Given the description of an element on the screen output the (x, y) to click on. 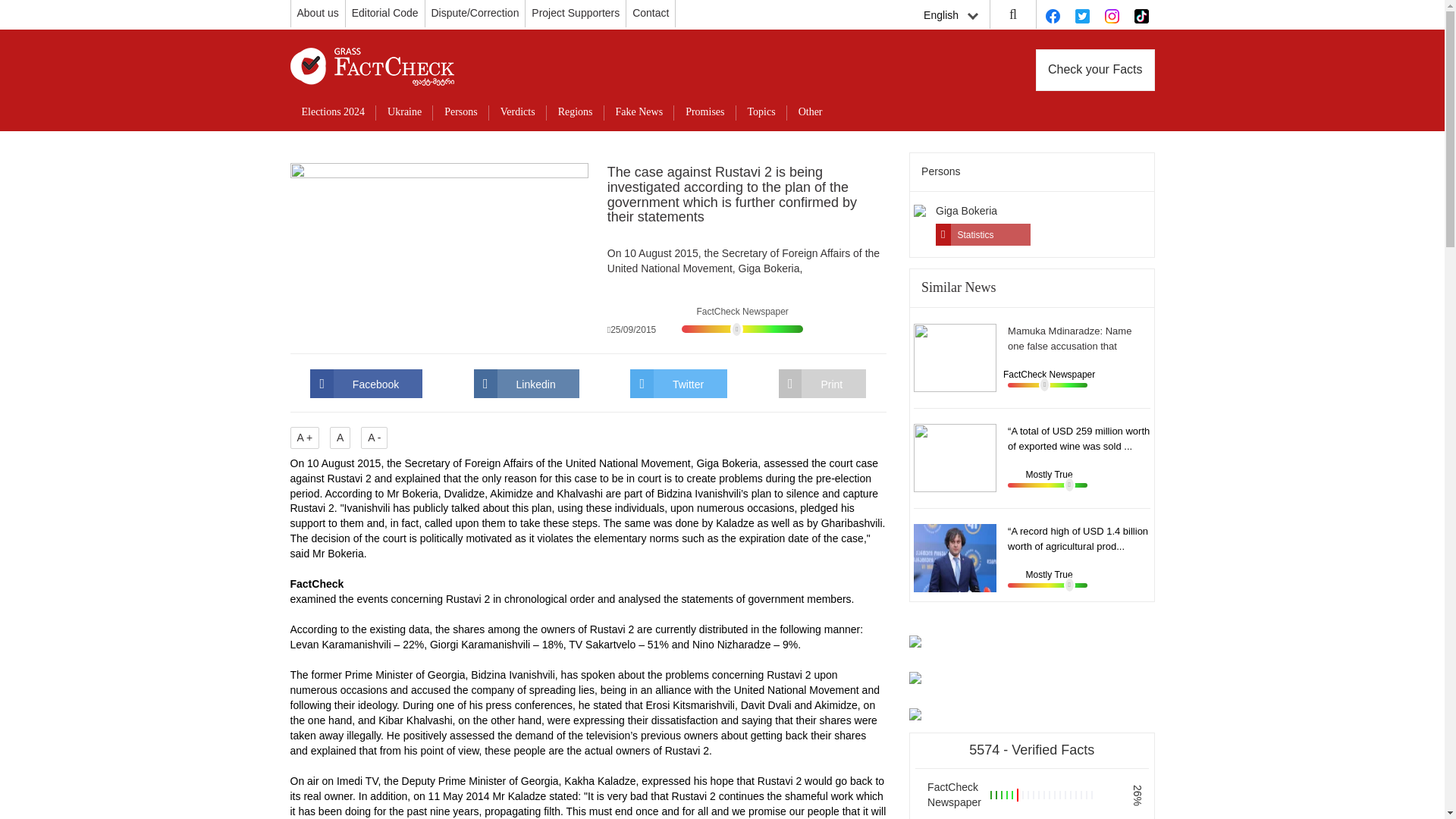
Elections 2024 (332, 112)
Project Supporters (575, 12)
English (950, 15)
Verdicts (518, 112)
Persons (460, 112)
Ukraine (403, 112)
Editorial Code (385, 12)
About us (318, 12)
Check your Facts (1094, 69)
Contact (649, 12)
